Given the description of an element on the screen output the (x, y) to click on. 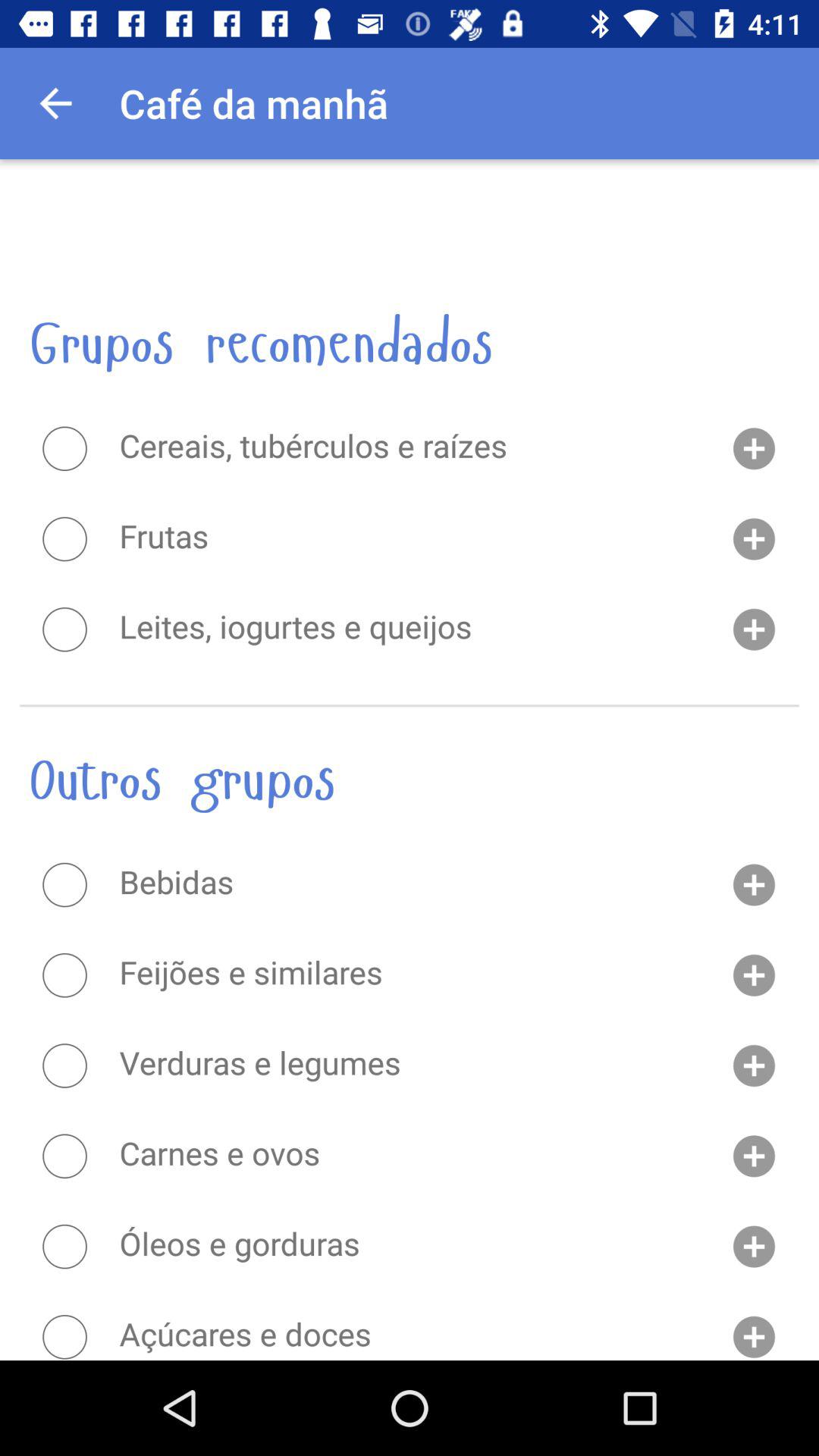
select option (64, 884)
